Given the description of an element on the screen output the (x, y) to click on. 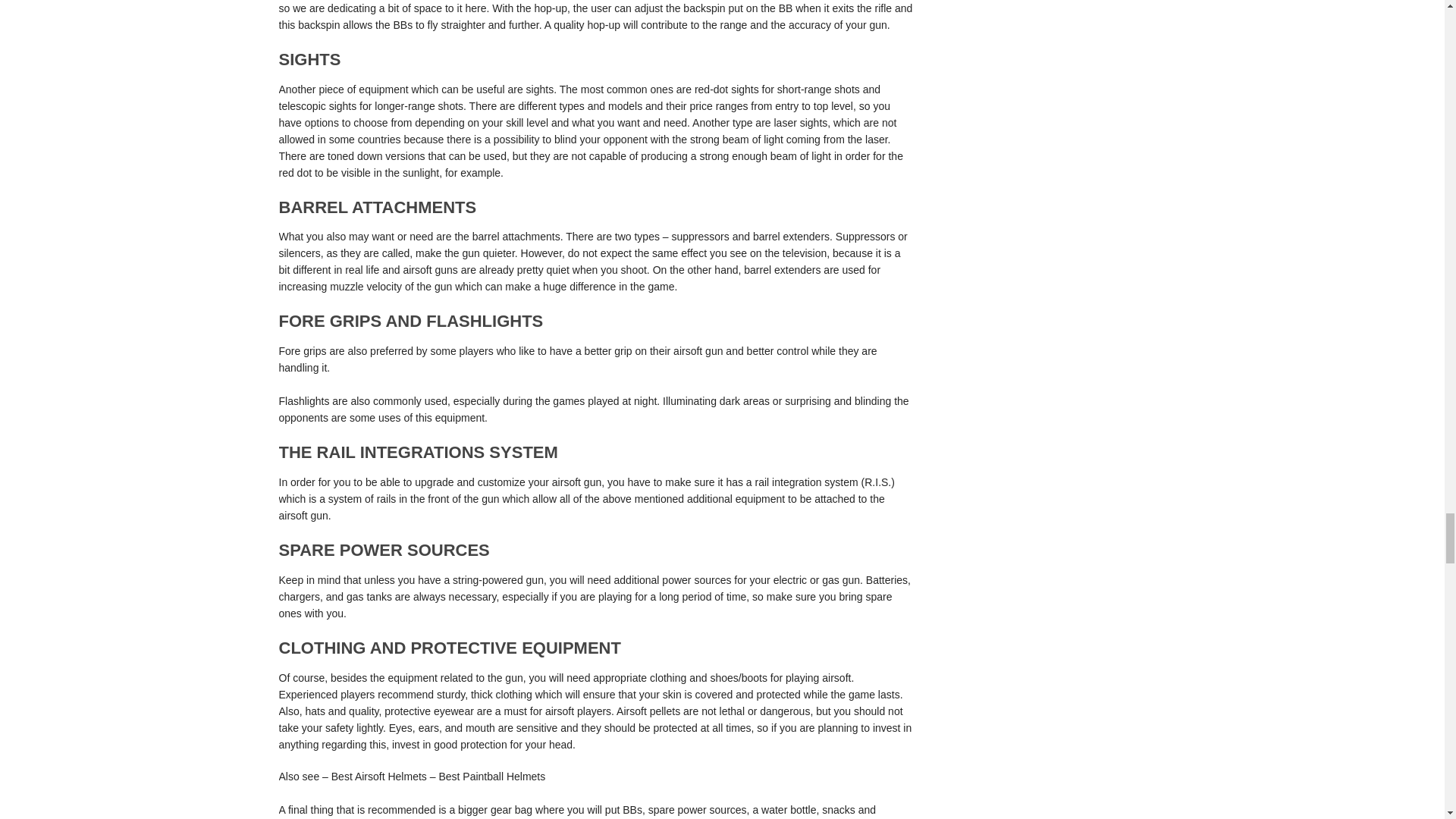
Best Paintball Helmets (491, 776)
Best Airsoft Helmets (378, 776)
